Given the description of an element on the screen output the (x, y) to click on. 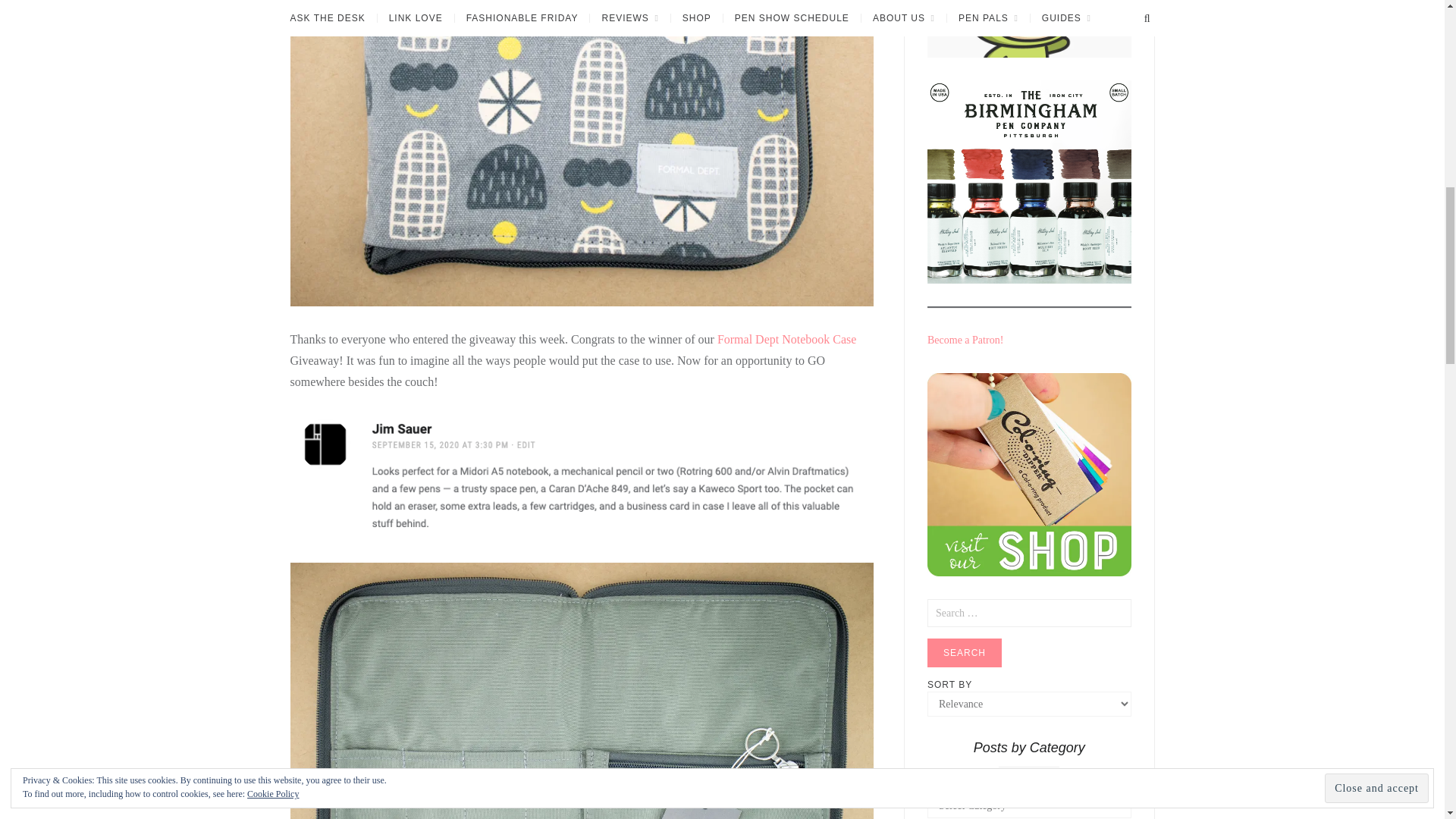
Search (964, 652)
Search (964, 652)
Formal Dept Notebook Case (787, 338)
